Given the description of an element on the screen output the (x, y) to click on. 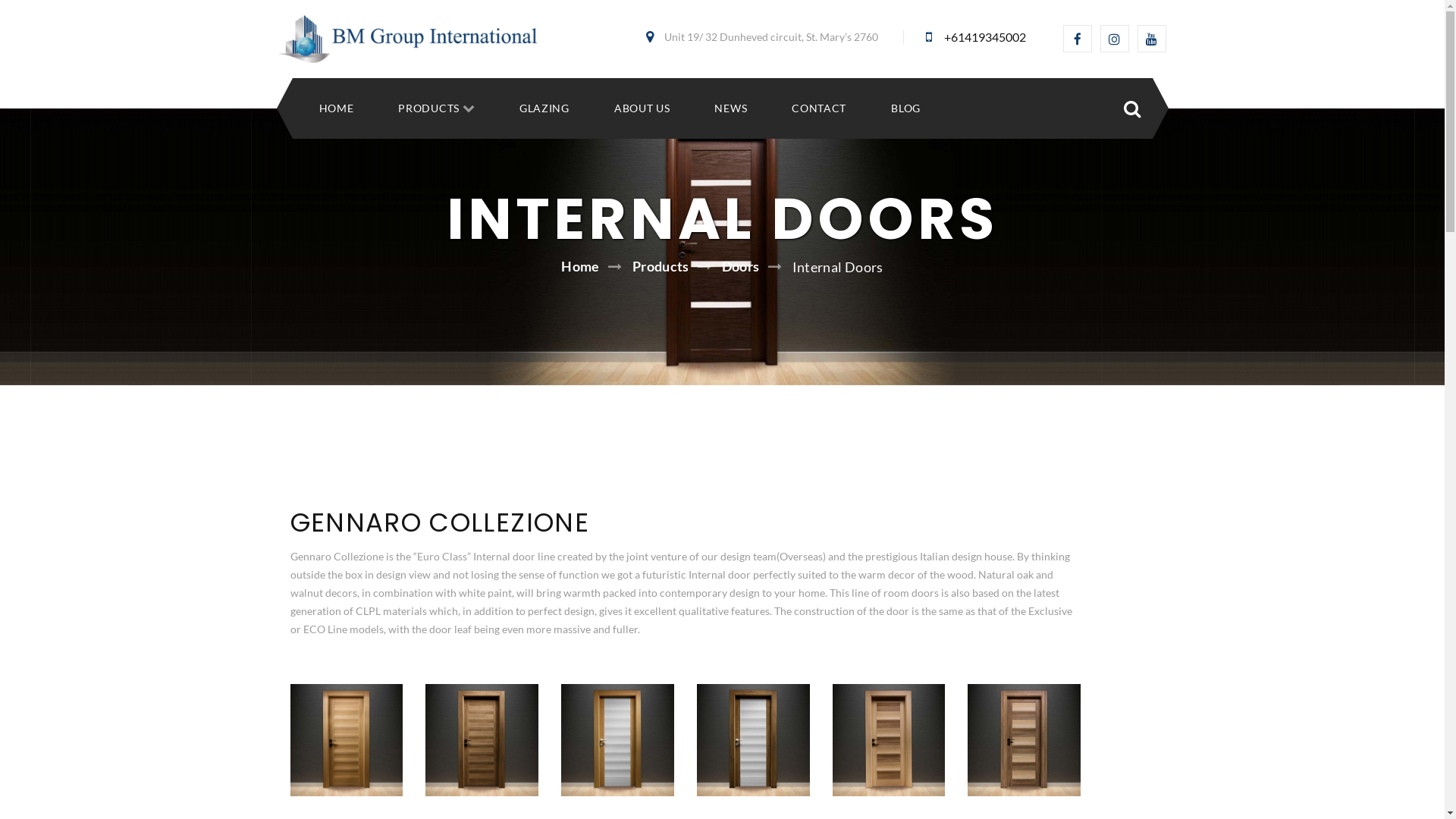
ABOUT US Element type: text (642, 108)
GLAZING Element type: text (544, 108)
PRODUCTS Element type: text (428, 108)
YouTube Element type: hover (1151, 38)
NEWS Element type: text (730, 108)
BLOG Element type: text (905, 108)
Instagram Element type: hover (1113, 38)
Home Element type: text (580, 265)
Facebook Element type: hover (1077, 38)
HOME Element type: text (335, 108)
+61419345002 Element type: text (984, 36)
Doors Element type: text (740, 265)
Home Element type: hover (407, 38)
CONTACT Element type: text (818, 108)
Products Element type: text (660, 265)
